Given the description of an element on the screen output the (x, y) to click on. 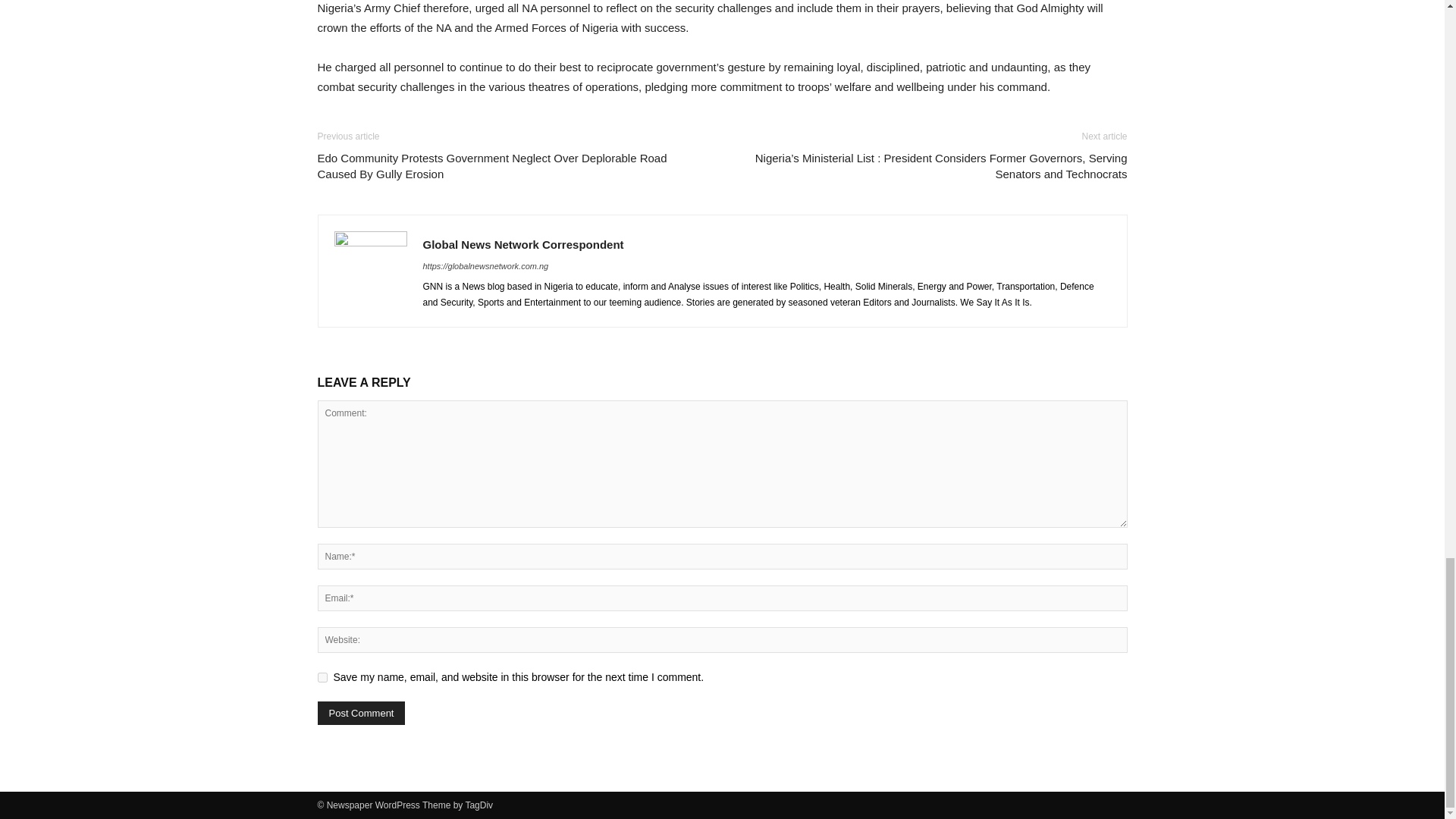
Post Comment (360, 712)
Global News Network Correspondent (523, 244)
Post Comment (360, 712)
yes (321, 677)
